Given the description of an element on the screen output the (x, y) to click on. 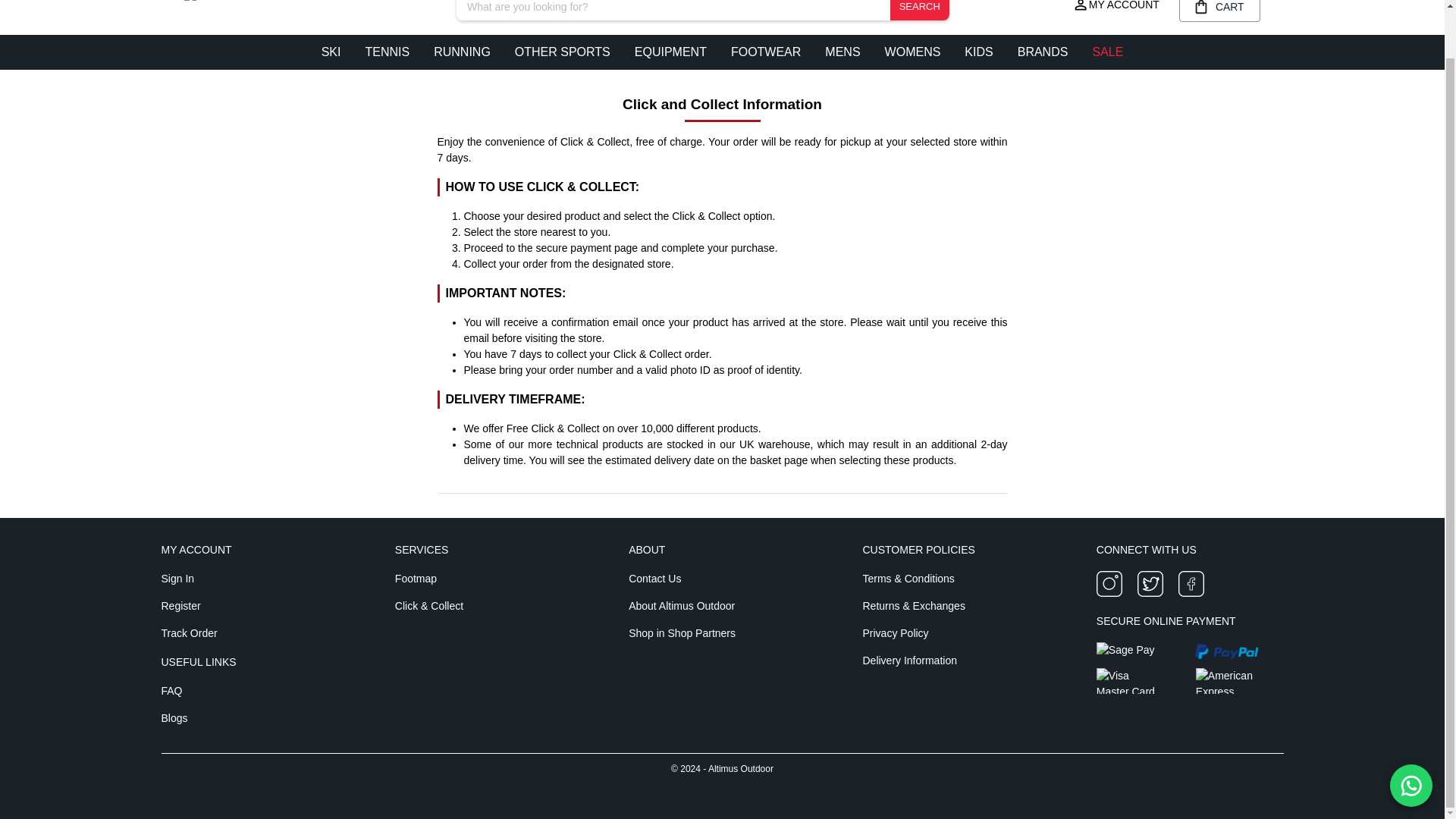
Register (253, 604)
CART (1219, 11)
FAQ (253, 689)
SKI (330, 52)
Sign In (253, 577)
Blogs (253, 717)
BRANDS (1043, 52)
RUNNING (462, 52)
EQUIPMENT (671, 52)
FOOTWEAR (765, 52)
SEARCH (919, 10)
Track Order (253, 631)
MENS (842, 52)
Footmap (488, 577)
OTHER SPORTS (562, 52)
